Given the description of an element on the screen output the (x, y) to click on. 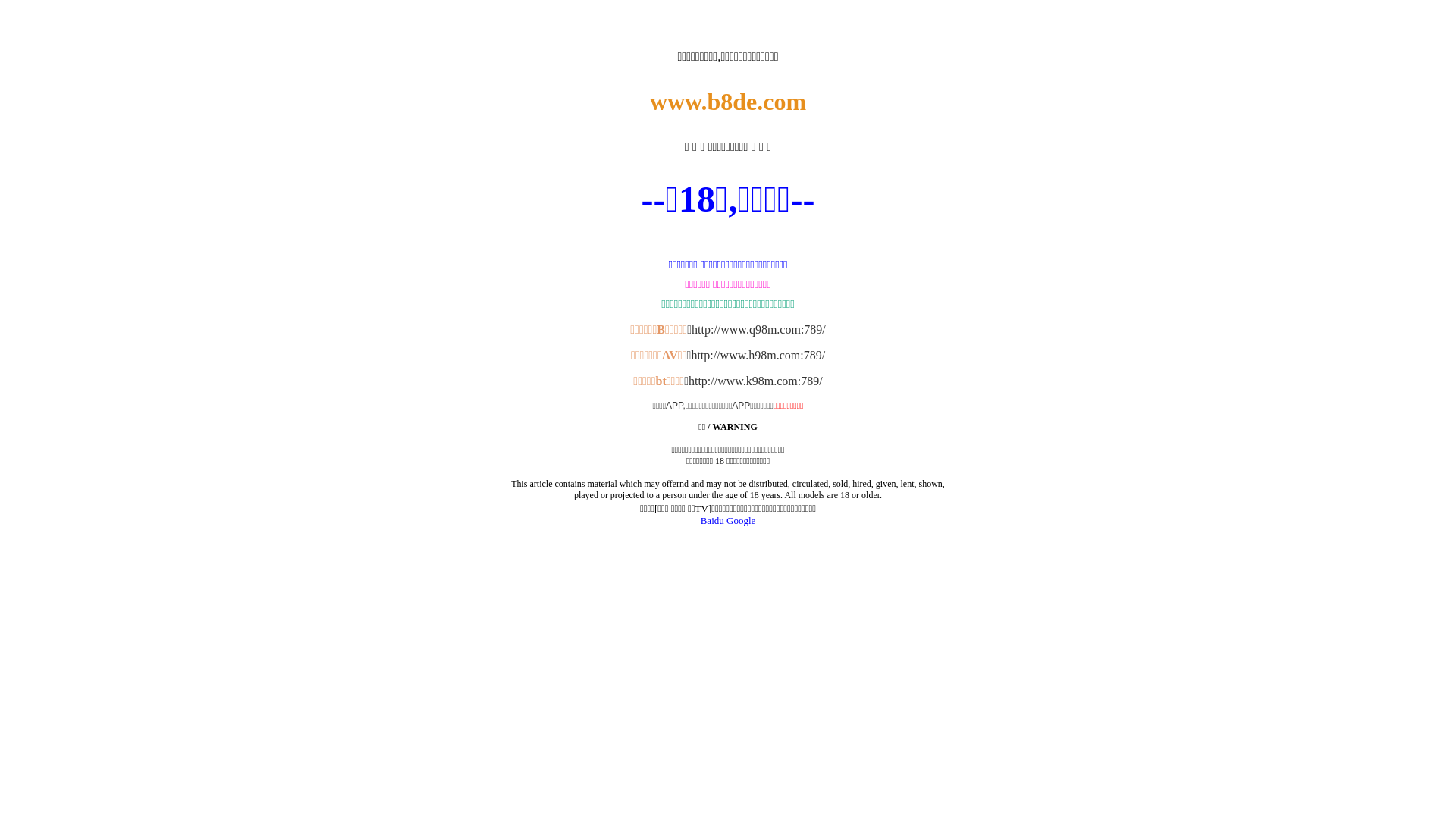
Baidu Element type: text (712, 520)
Google Element type: text (740, 520)
